Given the description of an element on the screen output the (x, y) to click on. 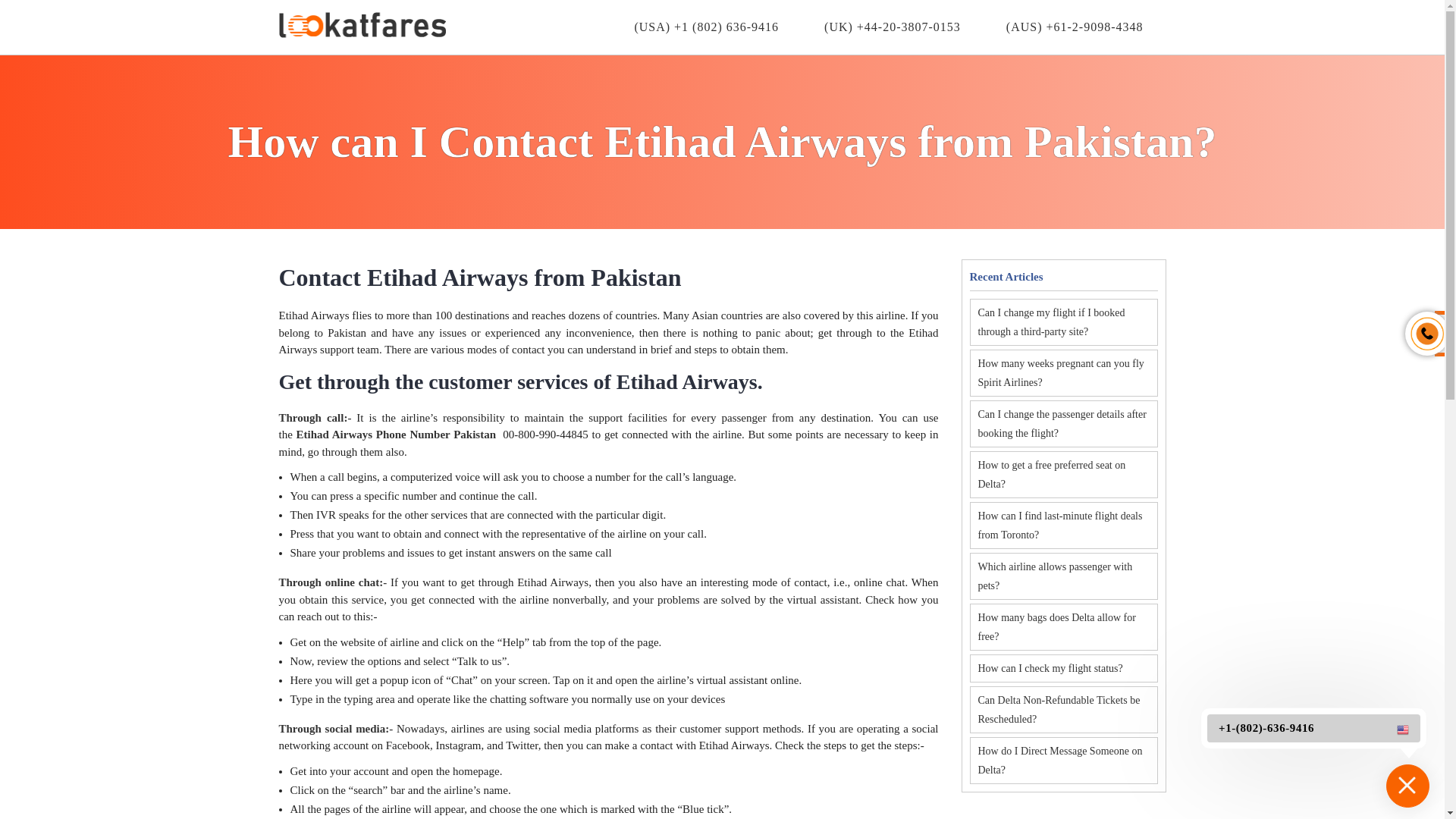
How to get a free preferred seat on Delta? (1063, 474)
How many bags does Delta allow for free? (1063, 626)
How do I Direct Message Someone on Delta? (1063, 760)
Can I change the passenger details after booking the flight? (1063, 423)
How can I check my flight status? (1063, 668)
How many weeks pregnant can you fly Spirit Airlines? (1063, 372)
How can I find last-minute flight deals from Toronto? (1063, 525)
Can Delta Non-Refundable Tickets be Rescheduled? (1063, 709)
Which airline allows passenger with pets? (1063, 575)
